Given the description of an element on the screen output the (x, y) to click on. 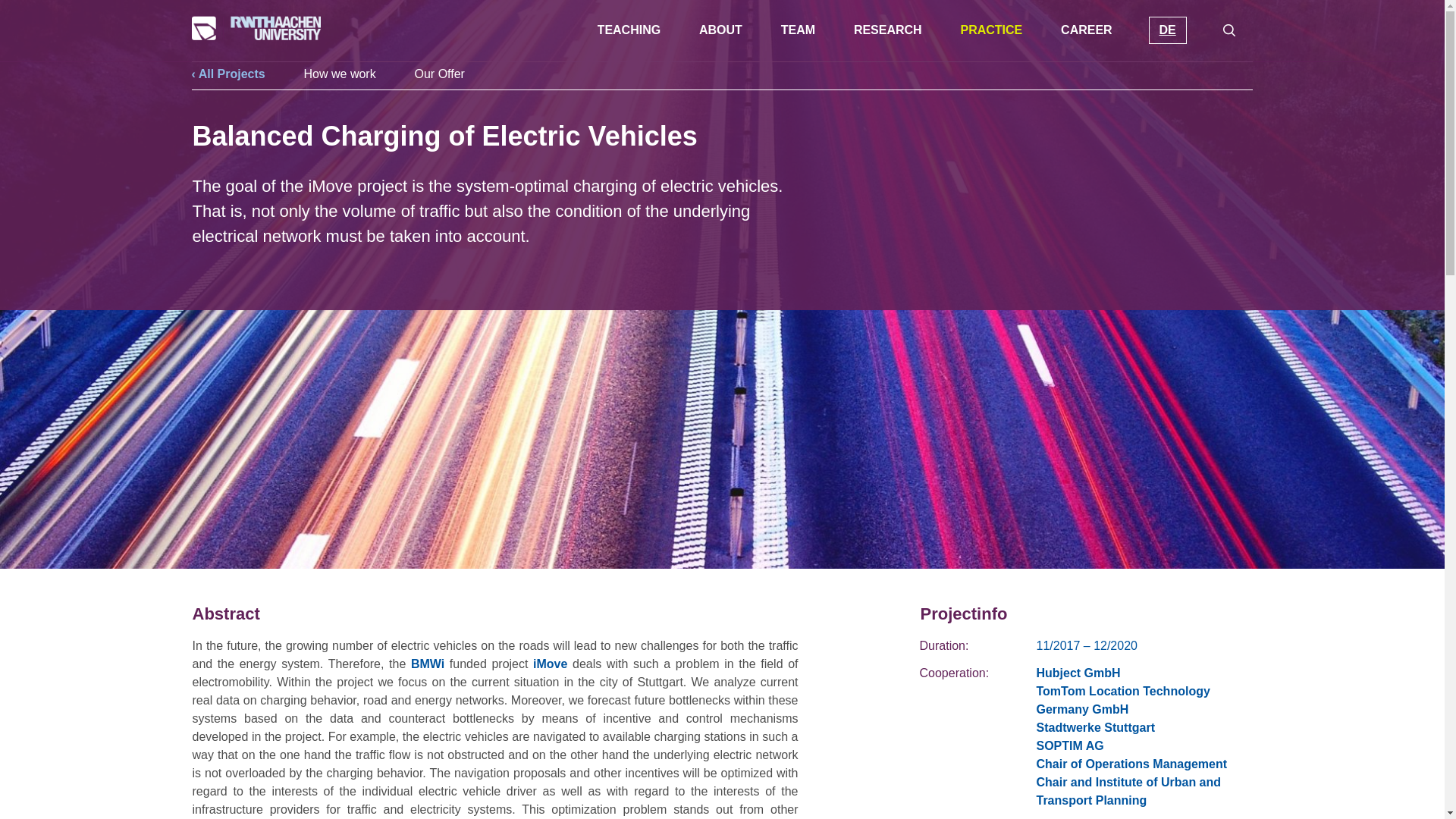
Praxis Details (1166, 29)
To home (255, 27)
DE (1166, 29)
How we work (339, 73)
ABOUT (720, 29)
How we work (339, 73)
PRACTICE (990, 29)
Our Offer (439, 73)
Chair of Operations Management (1131, 763)
Home (255, 35)
Research (887, 29)
Stadtwerke Stuttgart (1094, 727)
About (720, 29)
BMWi (427, 663)
RESEARCH (887, 29)
